Given the description of an element on the screen output the (x, y) to click on. 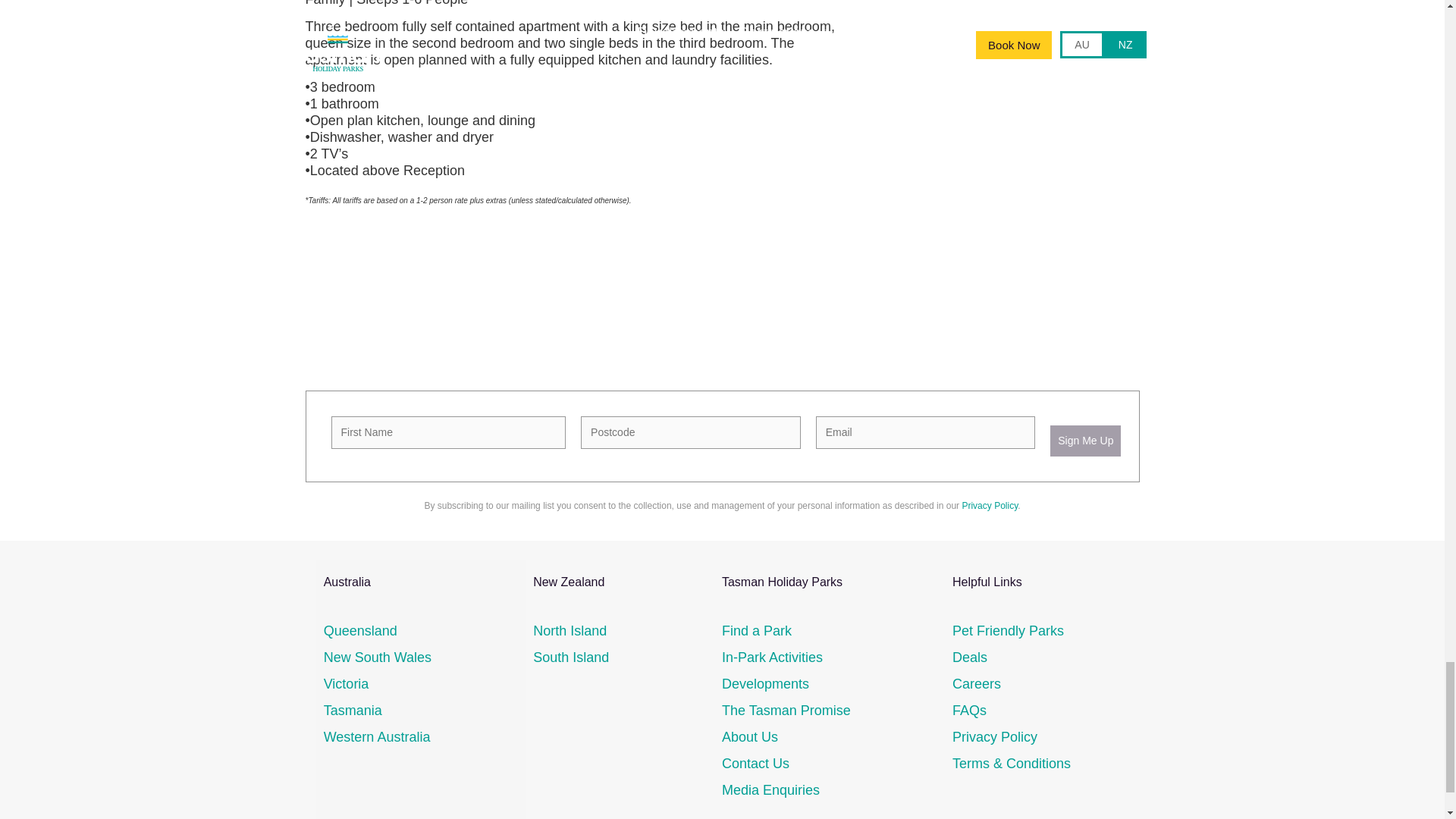
New South Wales (376, 657)
Queensland (360, 630)
Victoria (346, 683)
Find a Park (757, 630)
Tasmania (352, 710)
Western Australia (376, 736)
North Island (569, 630)
South Island (570, 657)
Privacy Policy (988, 505)
Sign Me Up (1085, 440)
